Given the description of an element on the screen output the (x, y) to click on. 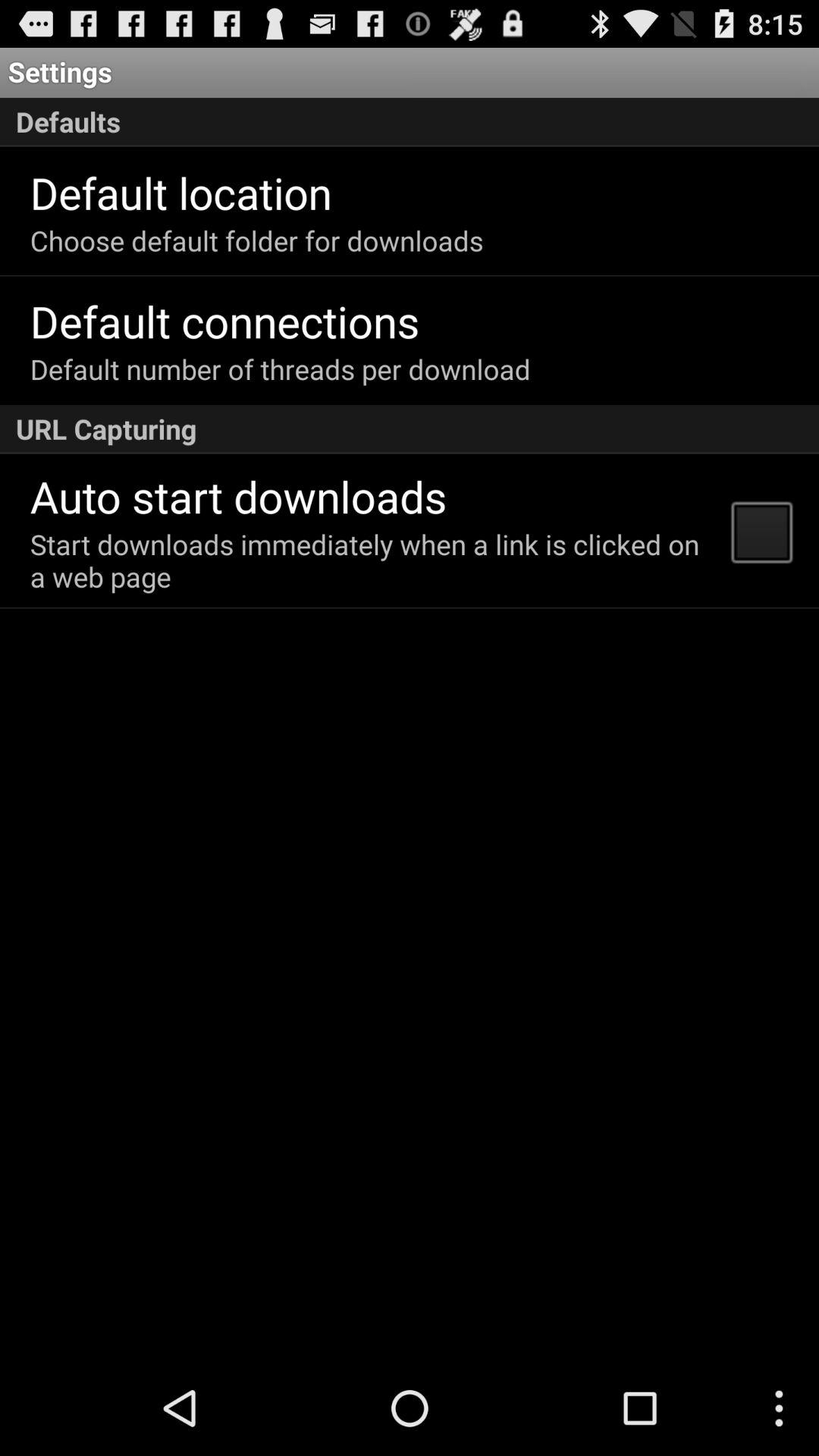
click the item above default location item (409, 121)
